Given the description of an element on the screen output the (x, y) to click on. 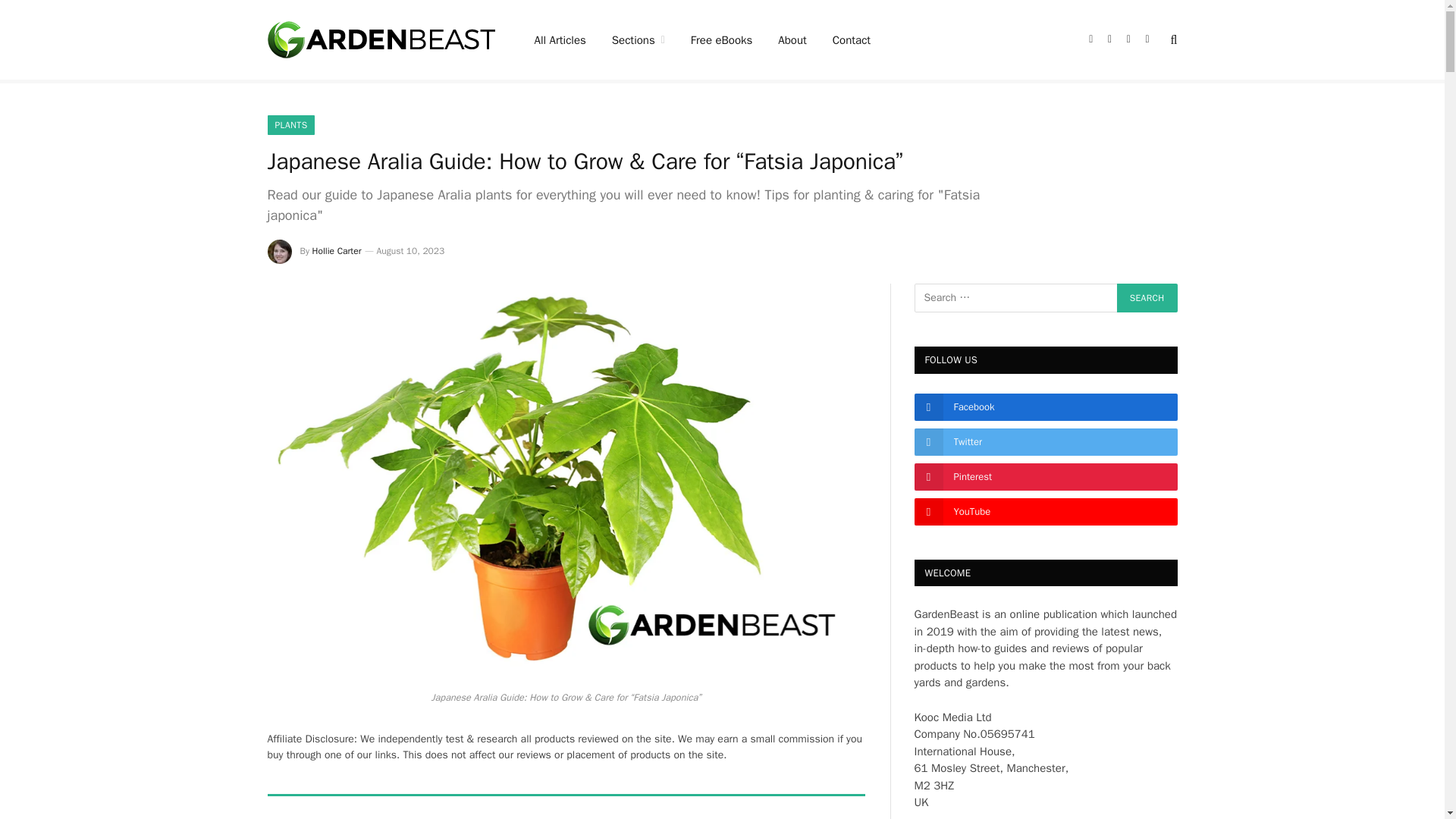
Free eBooks (721, 39)
Hollie Carter (337, 250)
All Articles (559, 39)
Search (1146, 297)
GardenBeast (380, 39)
Sections (638, 39)
Search (1146, 297)
PLANTS (290, 125)
Posts by Hollie Carter (337, 250)
